Given the description of an element on the screen output the (x, y) to click on. 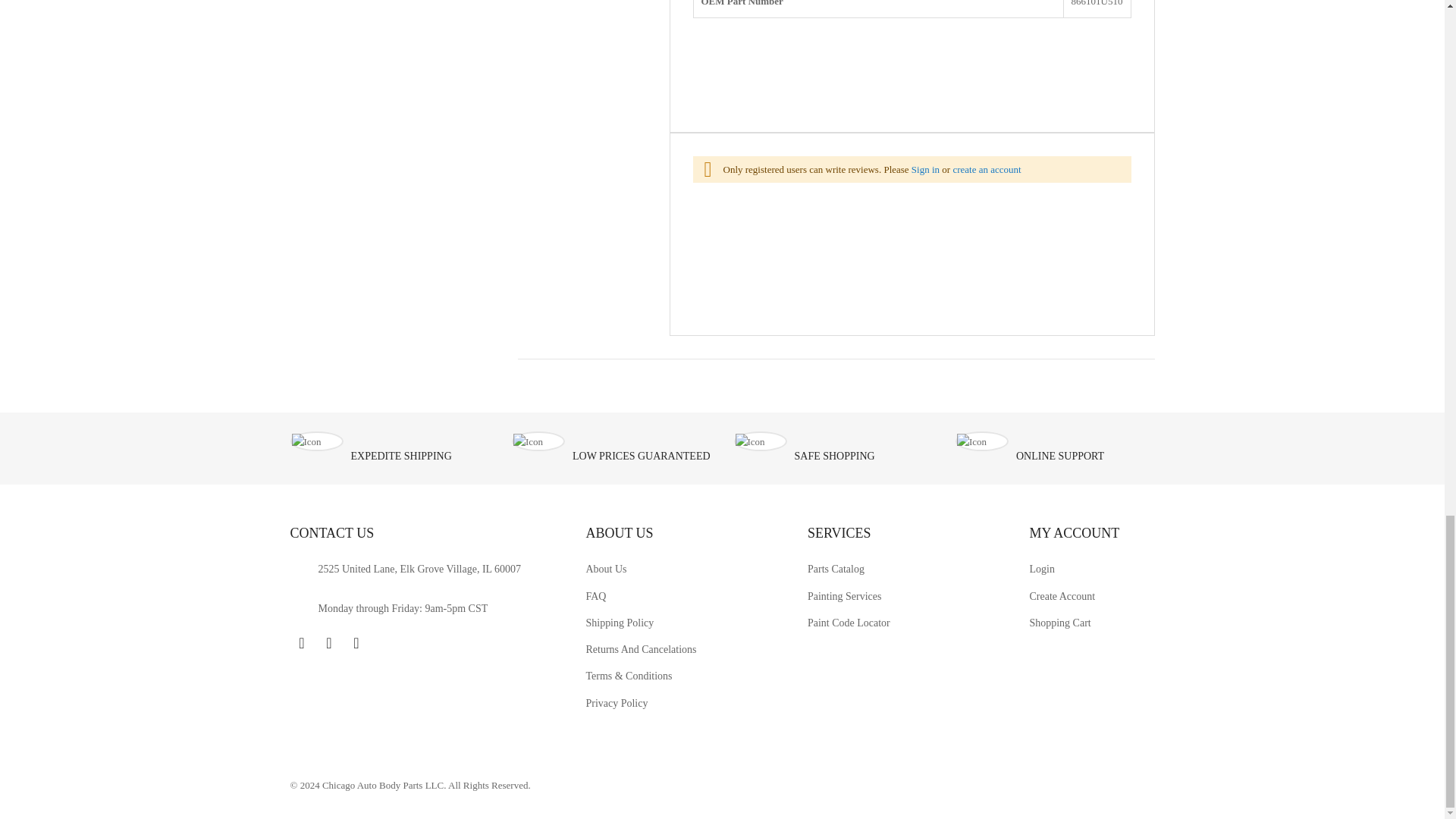
Twitter (328, 642)
Facebook (301, 642)
Linkedin (355, 642)
